Given the description of an element on the screen output the (x, y) to click on. 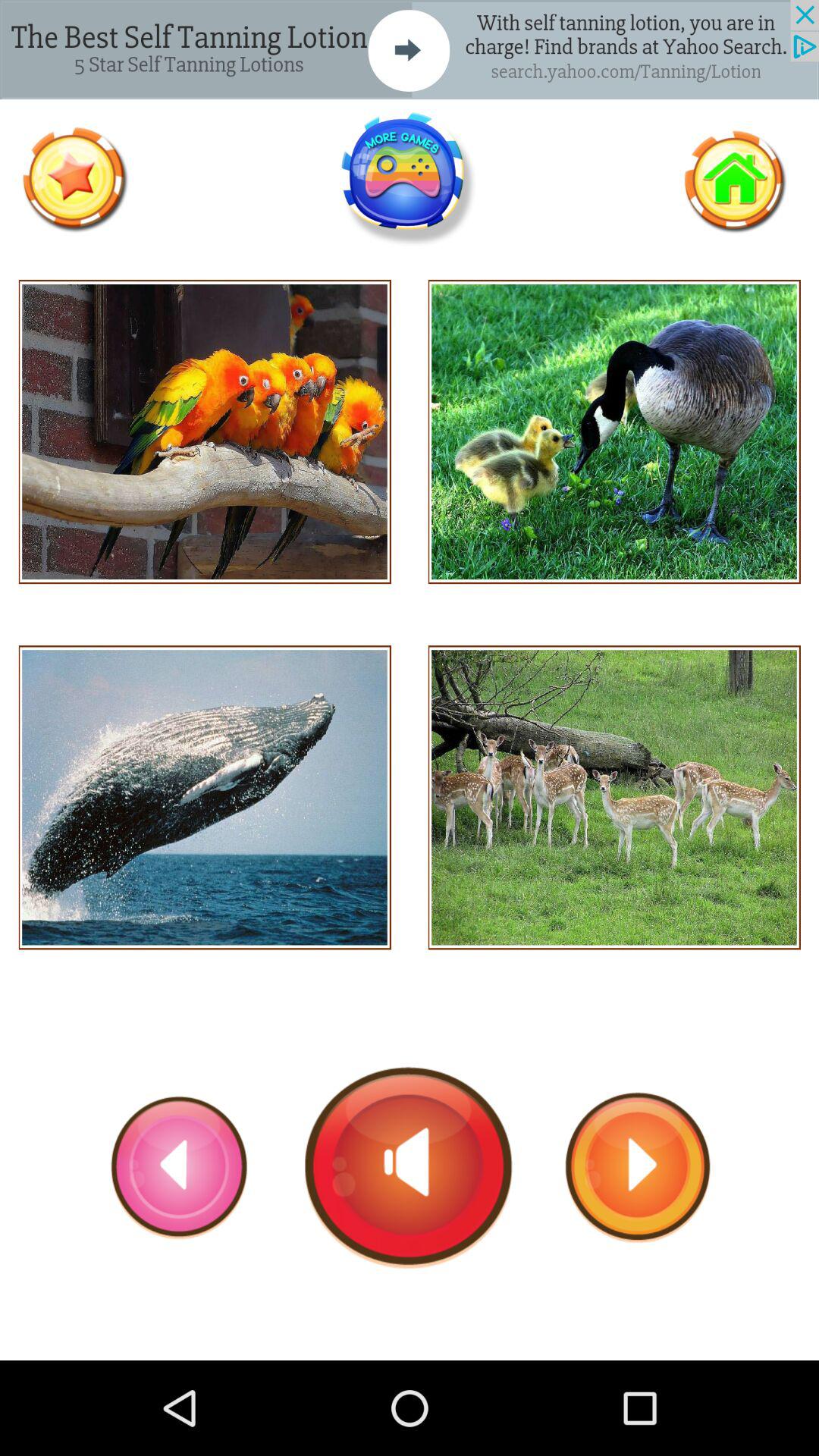
go to previous (179, 1166)
